Given the description of an element on the screen output the (x, y) to click on. 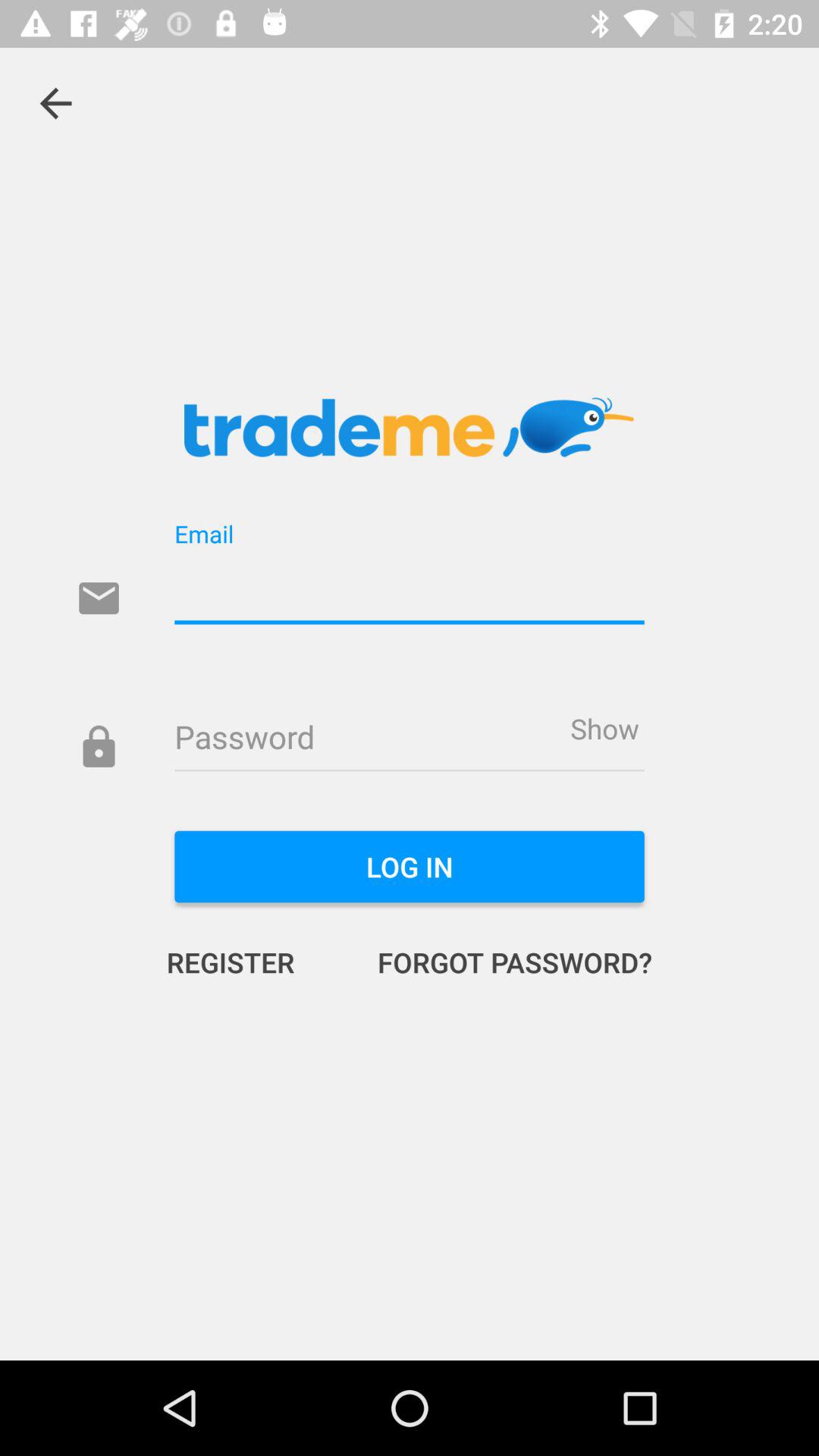
select log in icon (409, 866)
